Given the description of an element on the screen output the (x, y) to click on. 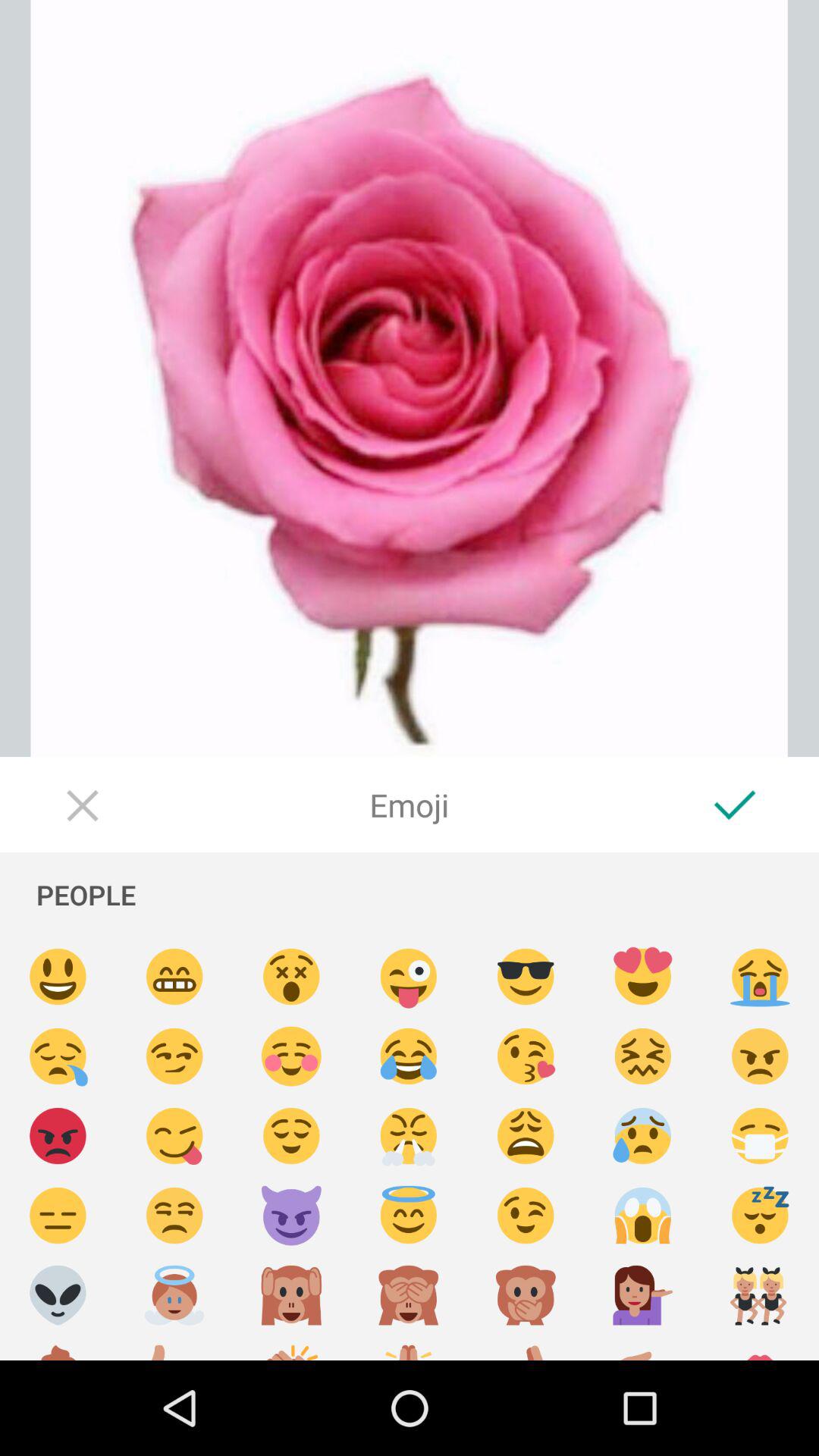
choose emoji (291, 976)
